Given the description of an element on the screen output the (x, y) to click on. 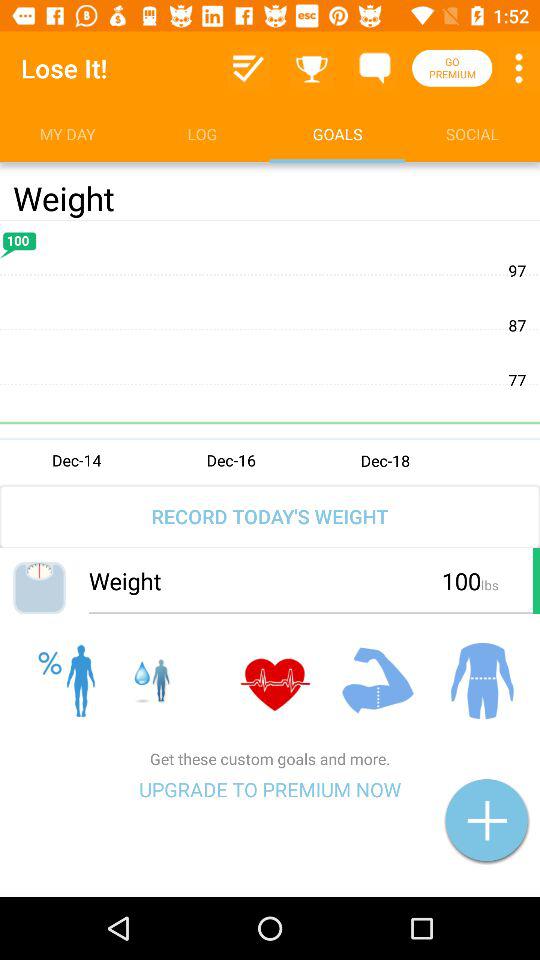
scroll until the record today s (270, 516)
